Given the description of an element on the screen output the (x, y) to click on. 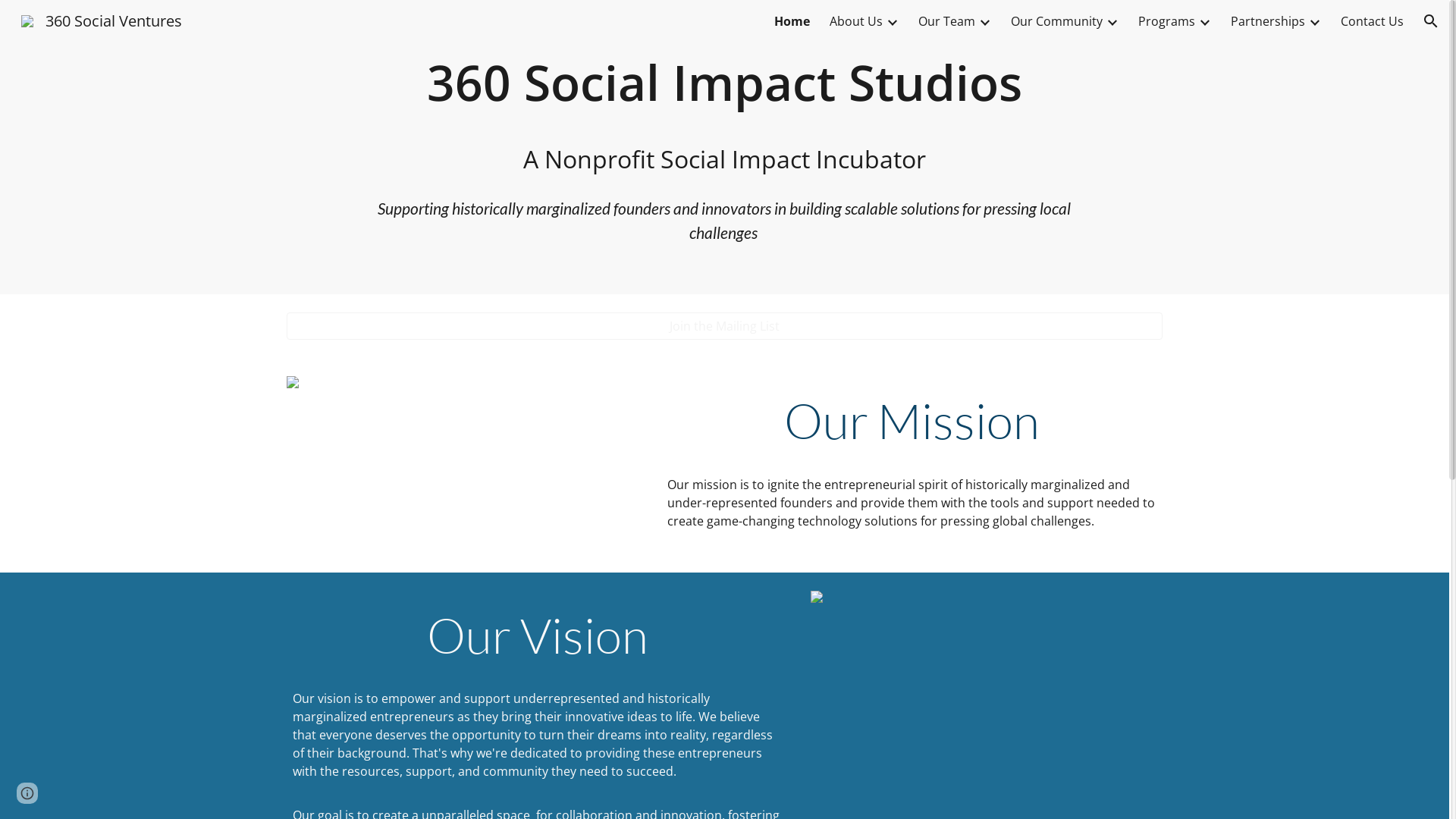
Partnerships Element type: text (1267, 20)
Expand/Collapse Element type: hover (1111, 20)
Our Team Element type: text (946, 20)
Expand/Collapse Element type: hover (1204, 20)
Contact Us Element type: text (1371, 20)
360 Social Ventures Element type: text (101, 19)
Join the Mailing List Element type: text (724, 325)
Home Element type: text (791, 20)
Expand/Collapse Element type: hover (891, 20)
About Us Element type: text (855, 20)
Programs Element type: text (1166, 20)
Expand/Collapse Element type: hover (1314, 20)
Our Community Element type: text (1056, 20)
Expand/Collapse Element type: hover (984, 20)
